Given the description of an element on the screen output the (x, y) to click on. 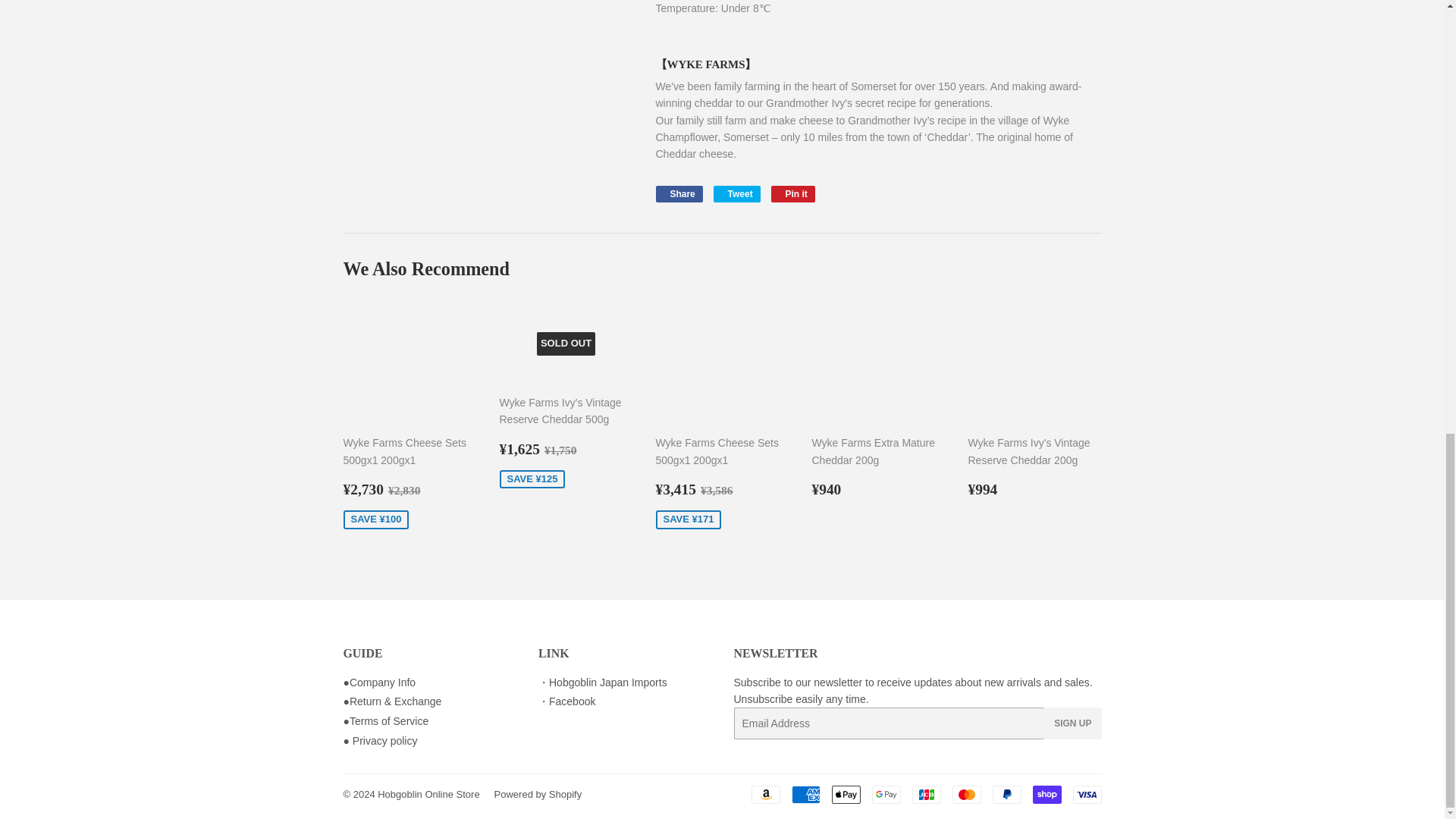
PayPal (1005, 794)
Tweet on Twitter (736, 193)
Mastercard (966, 794)
American Express (806, 794)
Google Pay (886, 794)
Apple Pay (845, 794)
Shop Pay (1046, 794)
Amazon (764, 794)
Share on Facebook (678, 193)
Visa (1085, 794)
Pin on Pinterest (793, 193)
JCB (925, 794)
